Given the description of an element on the screen output the (x, y) to click on. 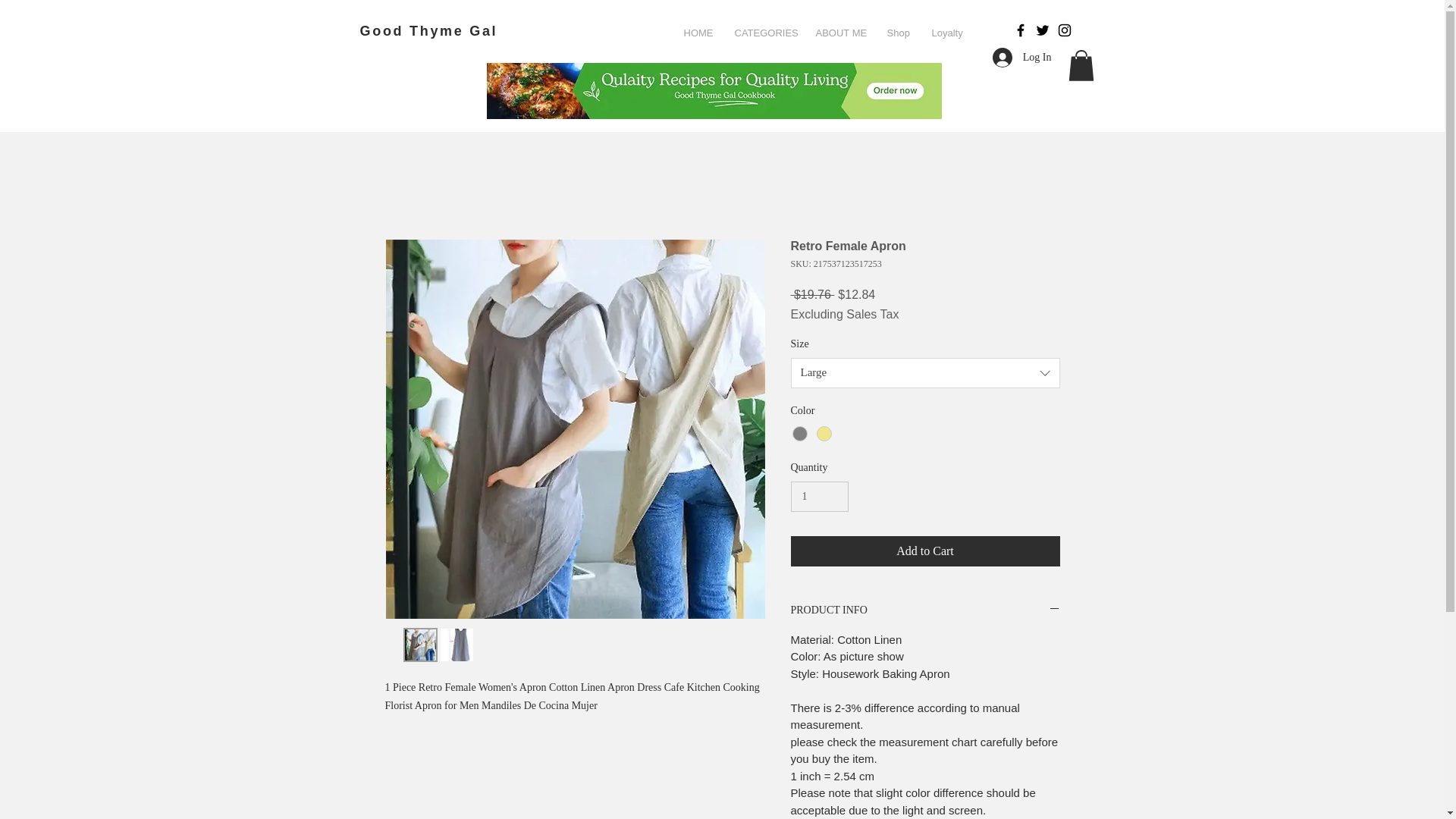
ABOUT ME (839, 33)
Loyalty (947, 33)
HOME (696, 33)
PRODUCT INFO (924, 610)
1 (818, 496)
Shop (897, 33)
Log In (1021, 57)
Large (924, 372)
Add to Cart (924, 551)
Good Thyme Gal (428, 30)
